Given the description of an element on the screen output the (x, y) to click on. 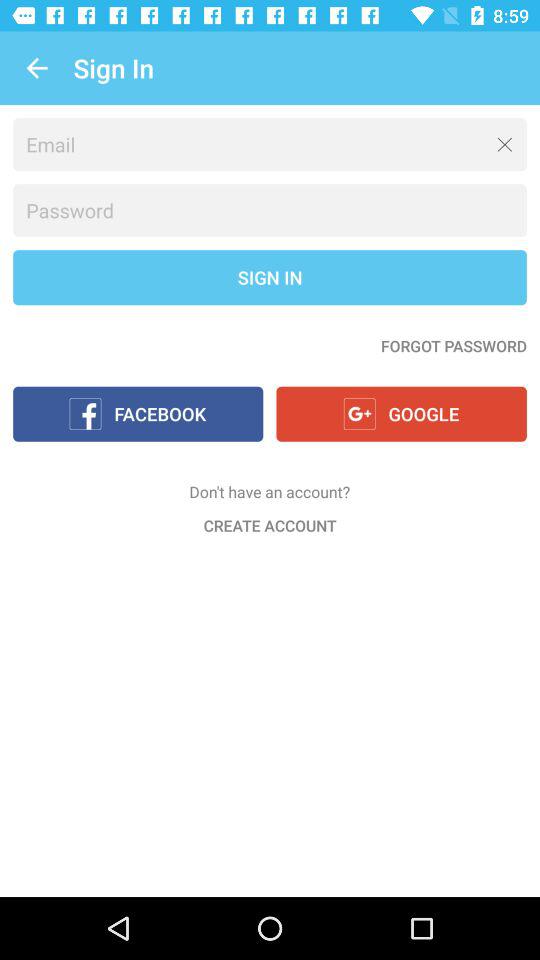
input your email address (269, 144)
